Given the description of an element on the screen output the (x, y) to click on. 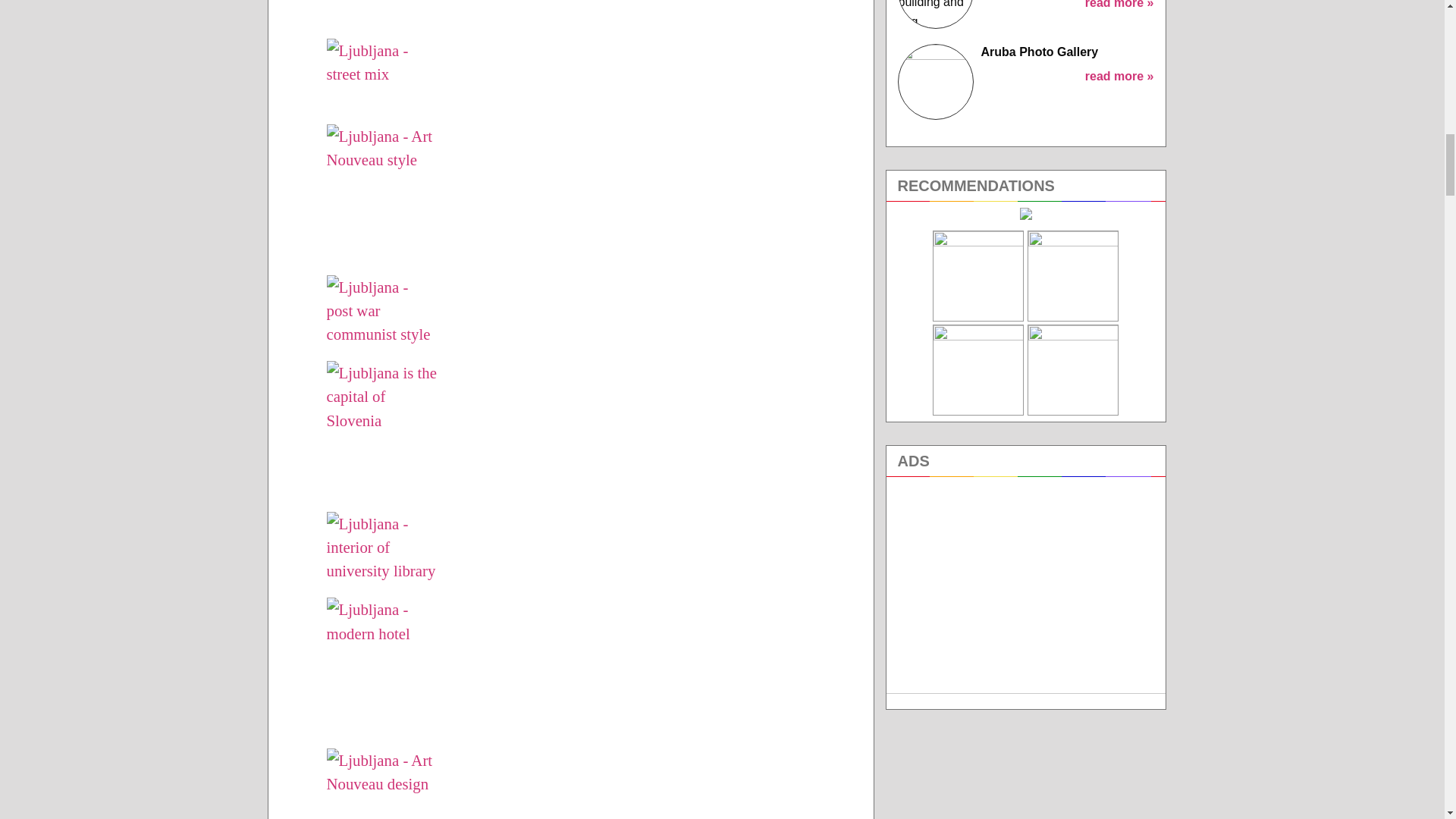
Ljubljana - street mix (381, 77)
Ljubljana - Art Nouveau design (381, 815)
Ljubljana - post war communist style buildings (381, 313)
Ljubljana - Art Nouveau style (381, 195)
Ljubljana - modern hotel (381, 669)
Ljubljana - interior of university library (381, 550)
